Given the description of an element on the screen output the (x, y) to click on. 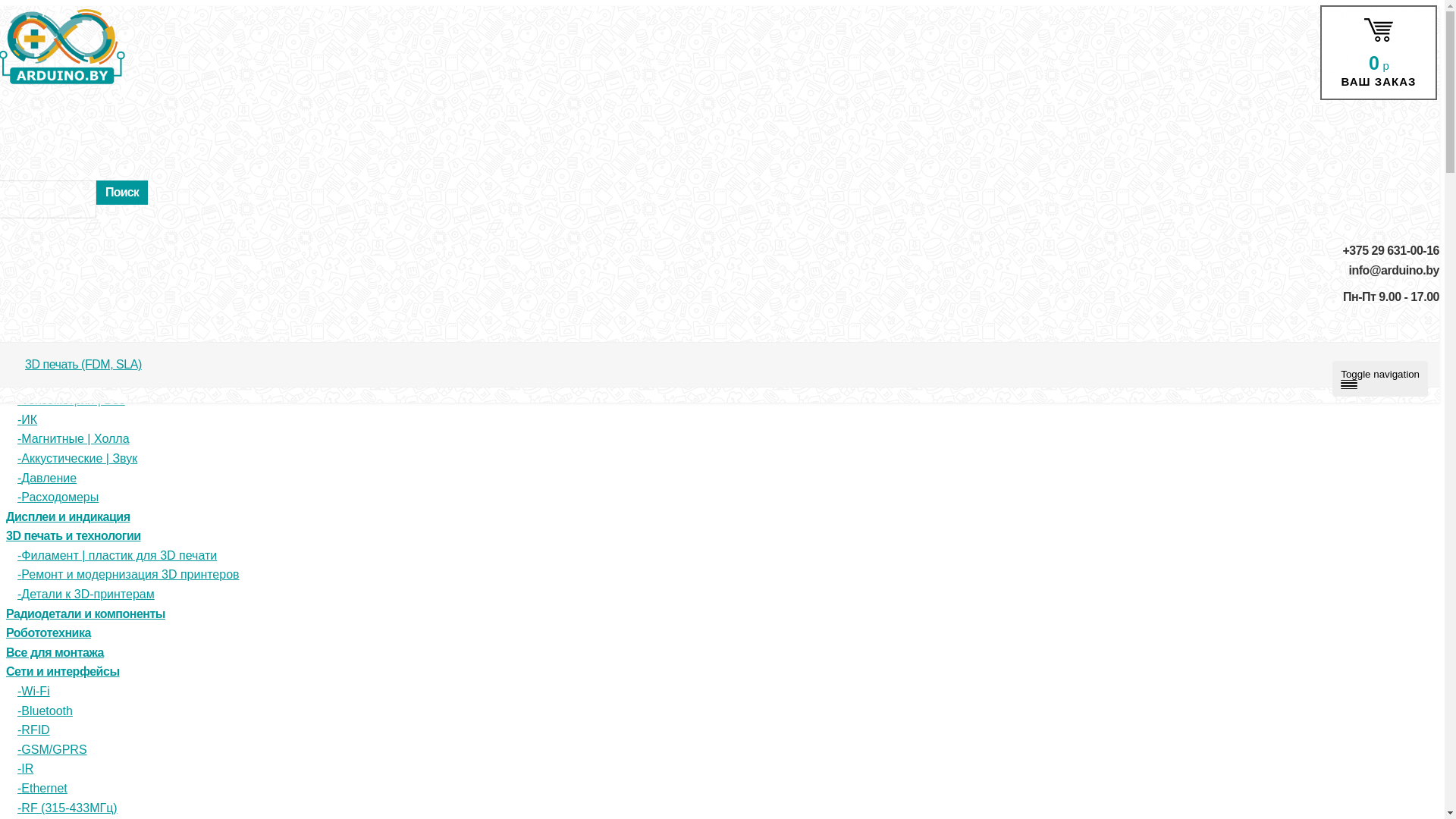
IR Element type: text (25, 768)
Wi-Fi Element type: text (33, 690)
Ethernet Element type: text (42, 787)
Bluetooth Element type: text (44, 710)
GSM/GPRS Element type: text (52, 749)
RFID Element type: text (33, 729)
Toggle navigation Element type: text (1379, 378)
